Given the description of an element on the screen output the (x, y) to click on. 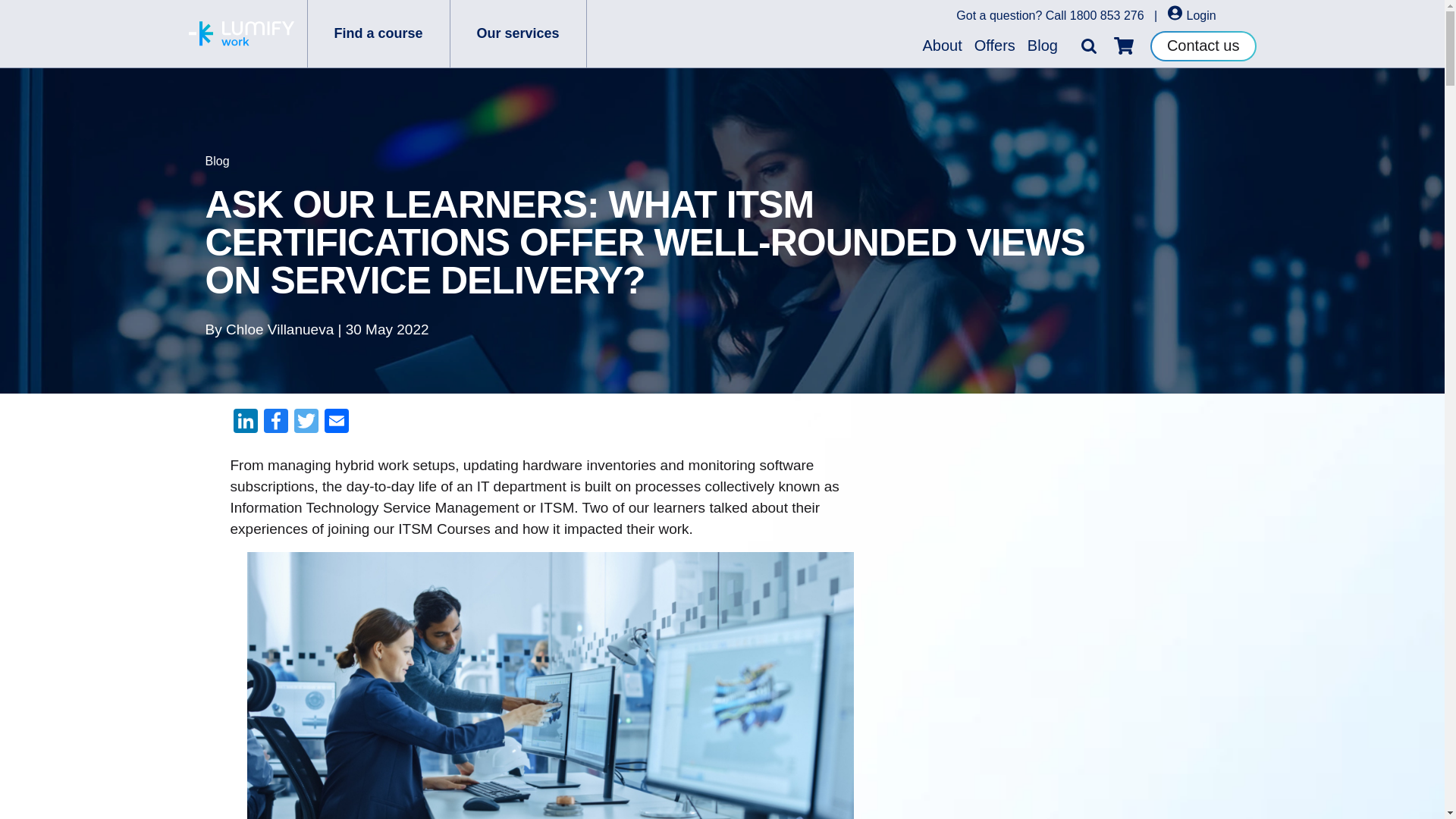
Blog (1043, 45)
homepage (240, 33)
Checkout (1123, 46)
About (941, 45)
Login (1191, 15)
Contact us (1203, 45)
Find a course (378, 33)
Blog (216, 160)
Our services (517, 33)
1800 853 276 (1107, 15)
Offers (995, 45)
